Given the description of an element on the screen output the (x, y) to click on. 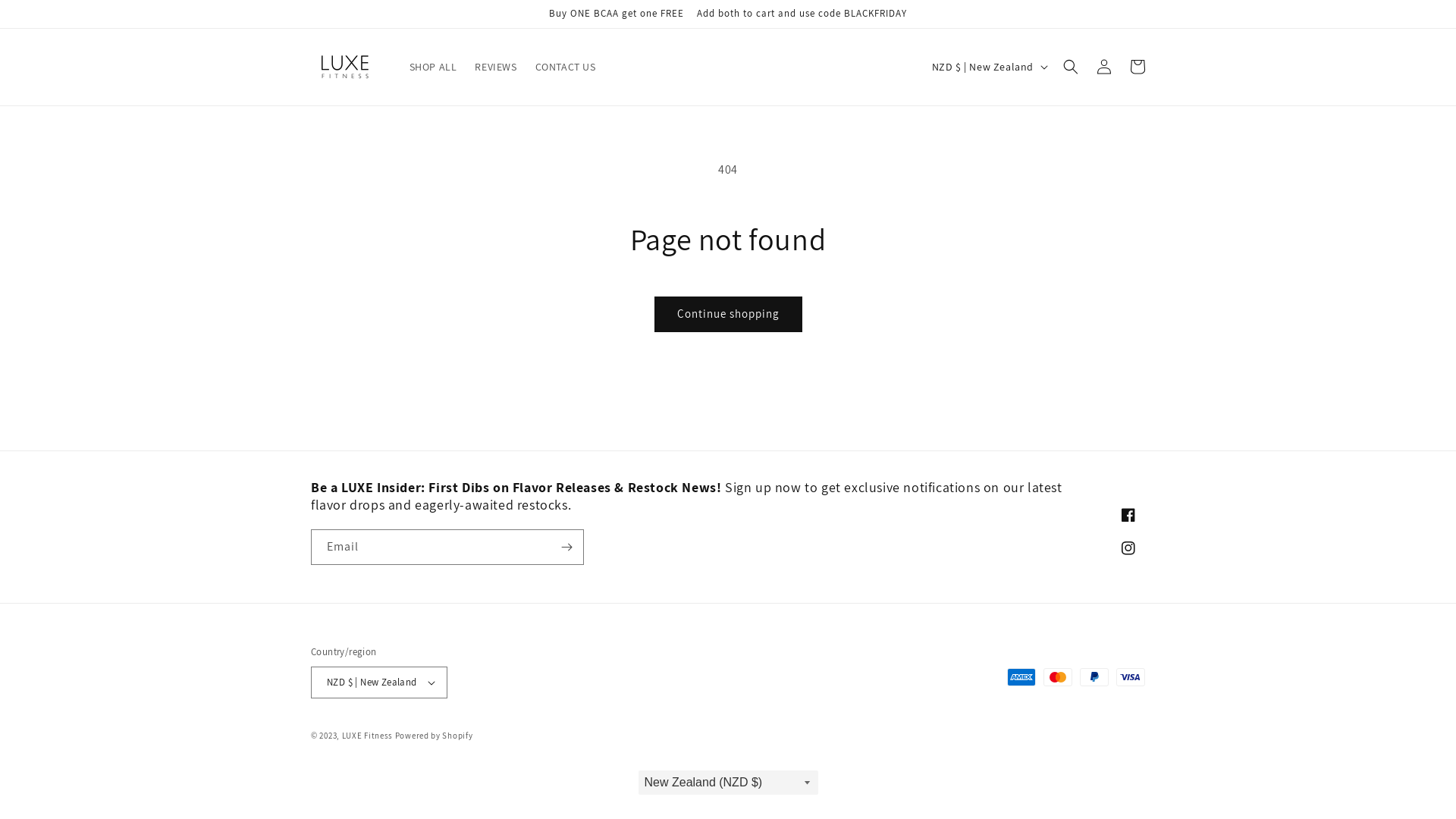
REVIEWS Element type: text (495, 66)
CONTACT US Element type: text (565, 66)
Instagram Element type: text (1128, 547)
Cart Element type: text (1137, 66)
Powered by Shopify Element type: text (434, 735)
Continue shopping Element type: text (727, 314)
SHOP ALL Element type: text (433, 66)
NZD $ | New Zealand Element type: text (378, 682)
NZD $ | New Zealand Element type: text (988, 66)
Log in Element type: text (1103, 66)
LUXE Fitness Element type: text (367, 735)
Facebook Element type: text (1128, 514)
